Given the description of an element on the screen output the (x, y) to click on. 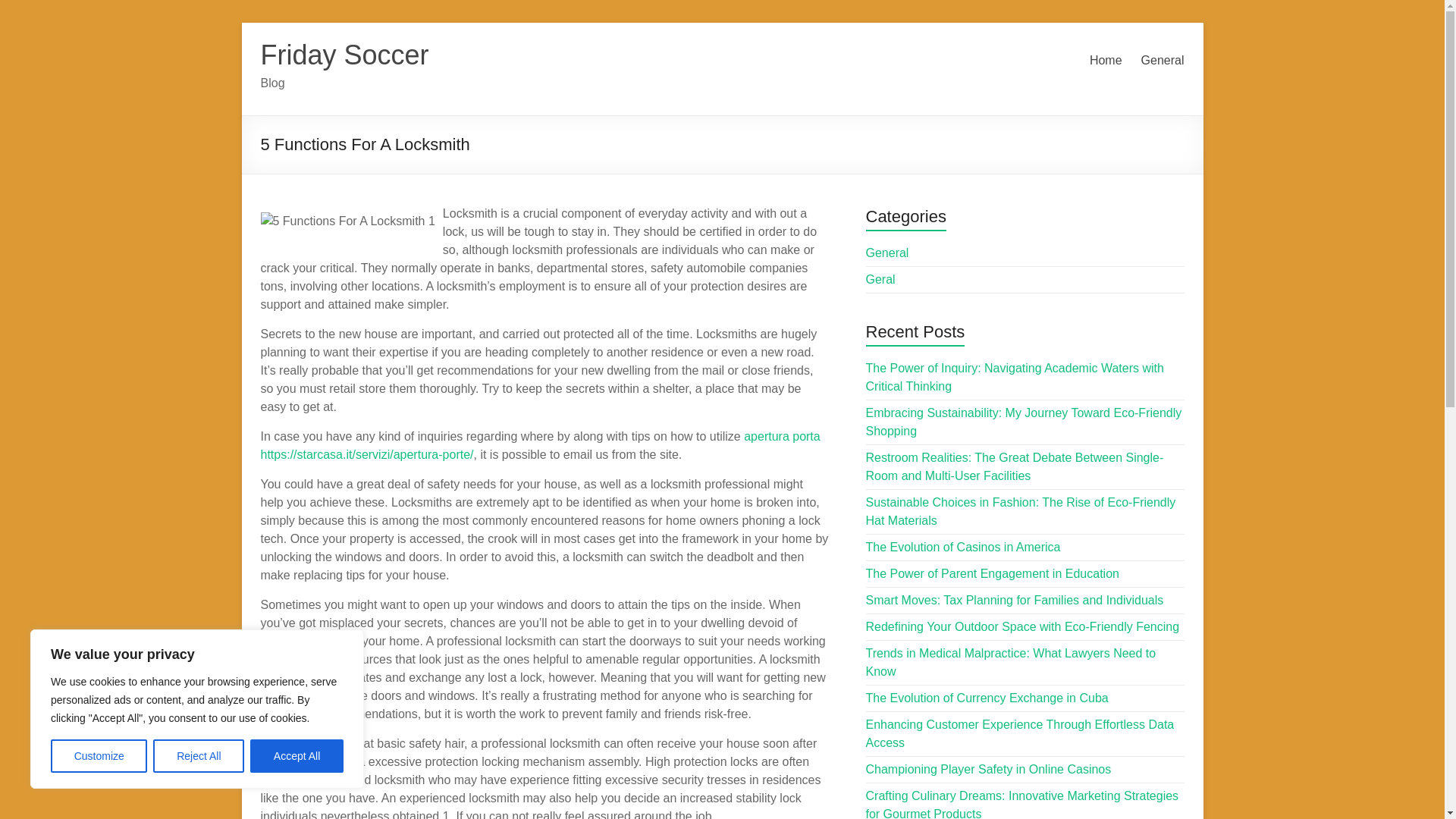
General (887, 252)
Reject All (198, 756)
Geral (880, 278)
Customize (98, 756)
Friday Soccer (344, 54)
Home (1105, 60)
General (1163, 60)
